Given the description of an element on the screen output the (x, y) to click on. 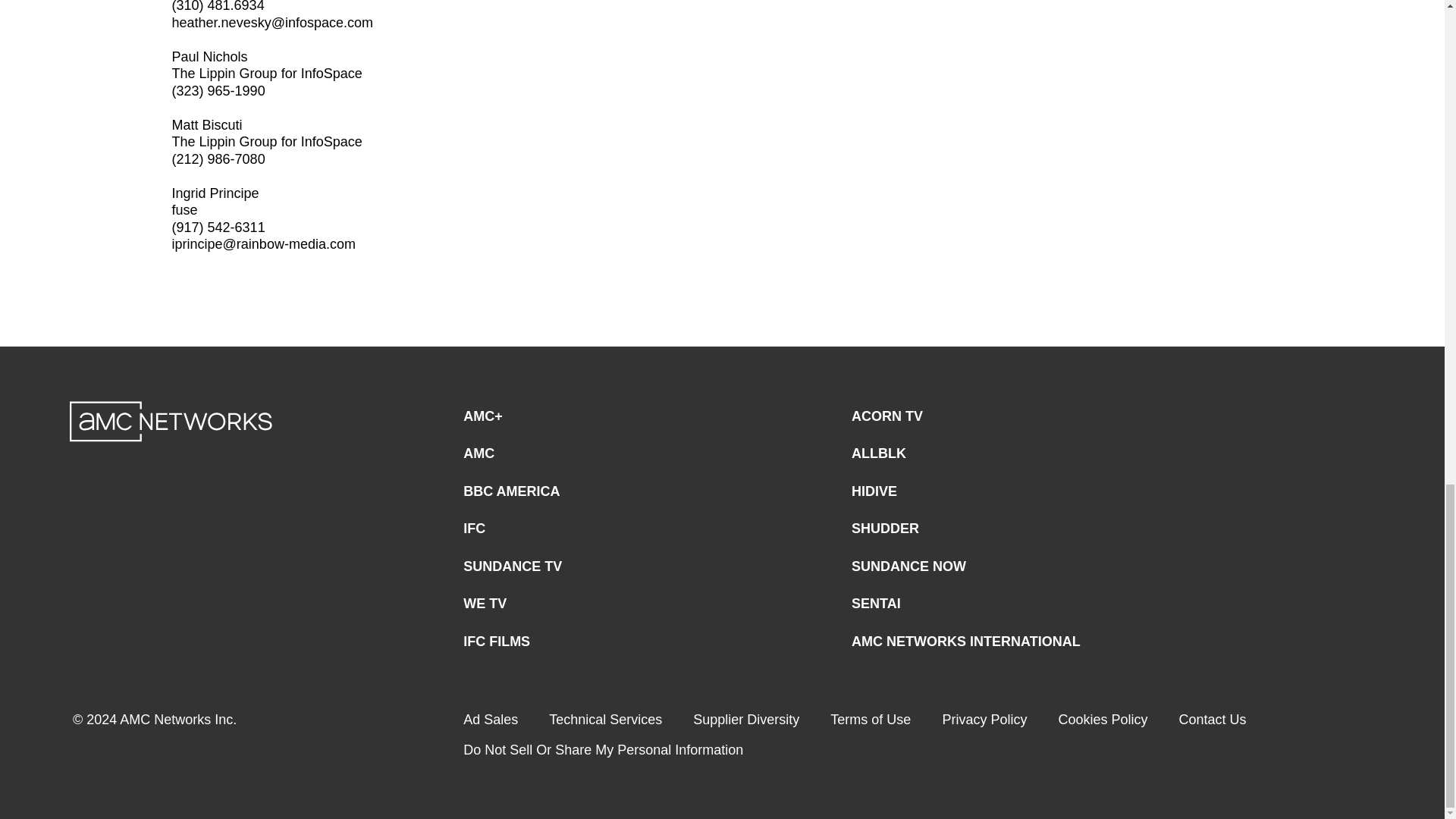
SUNDANCE TV (512, 566)
BBC AMERICA (511, 490)
ACORN TV (887, 416)
AMC Networks (170, 421)
AMC (479, 453)
WE TV (484, 603)
IFC FILMS (496, 641)
